Given the description of an element on the screen output the (x, y) to click on. 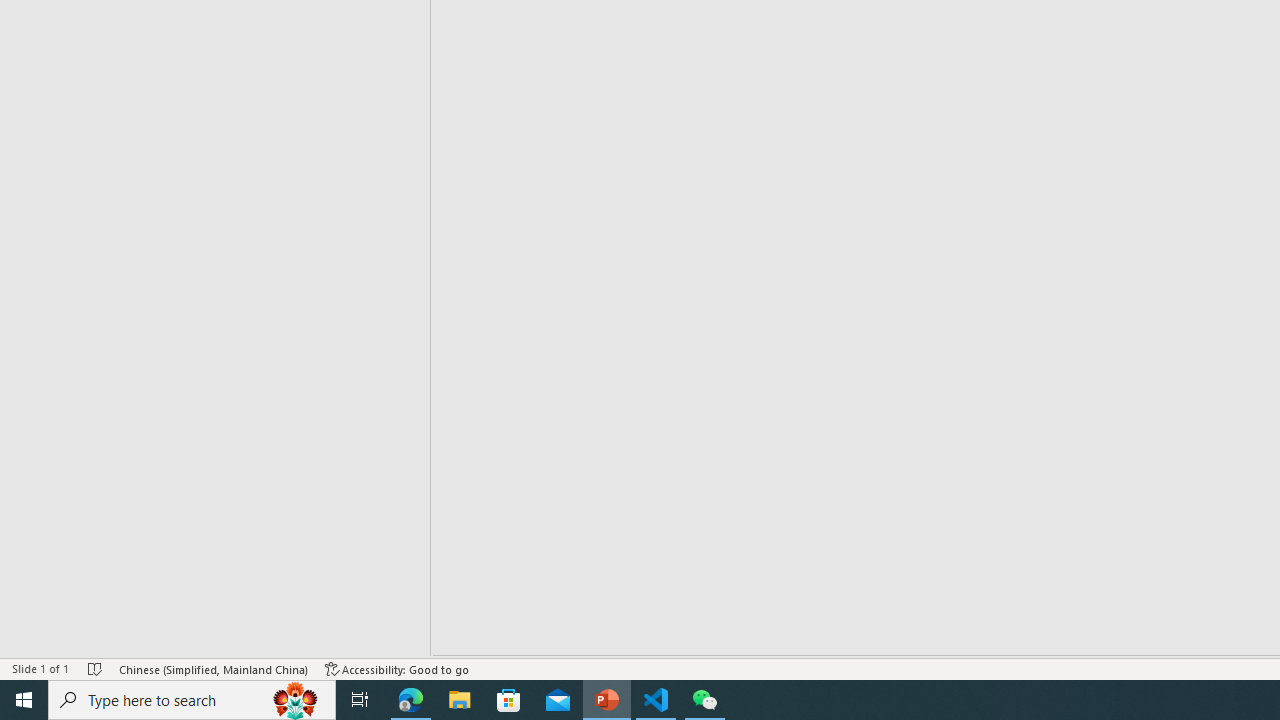
Accessibility Checker Accessibility: Good to go (397, 668)
